Given the description of an element on the screen output the (x, y) to click on. 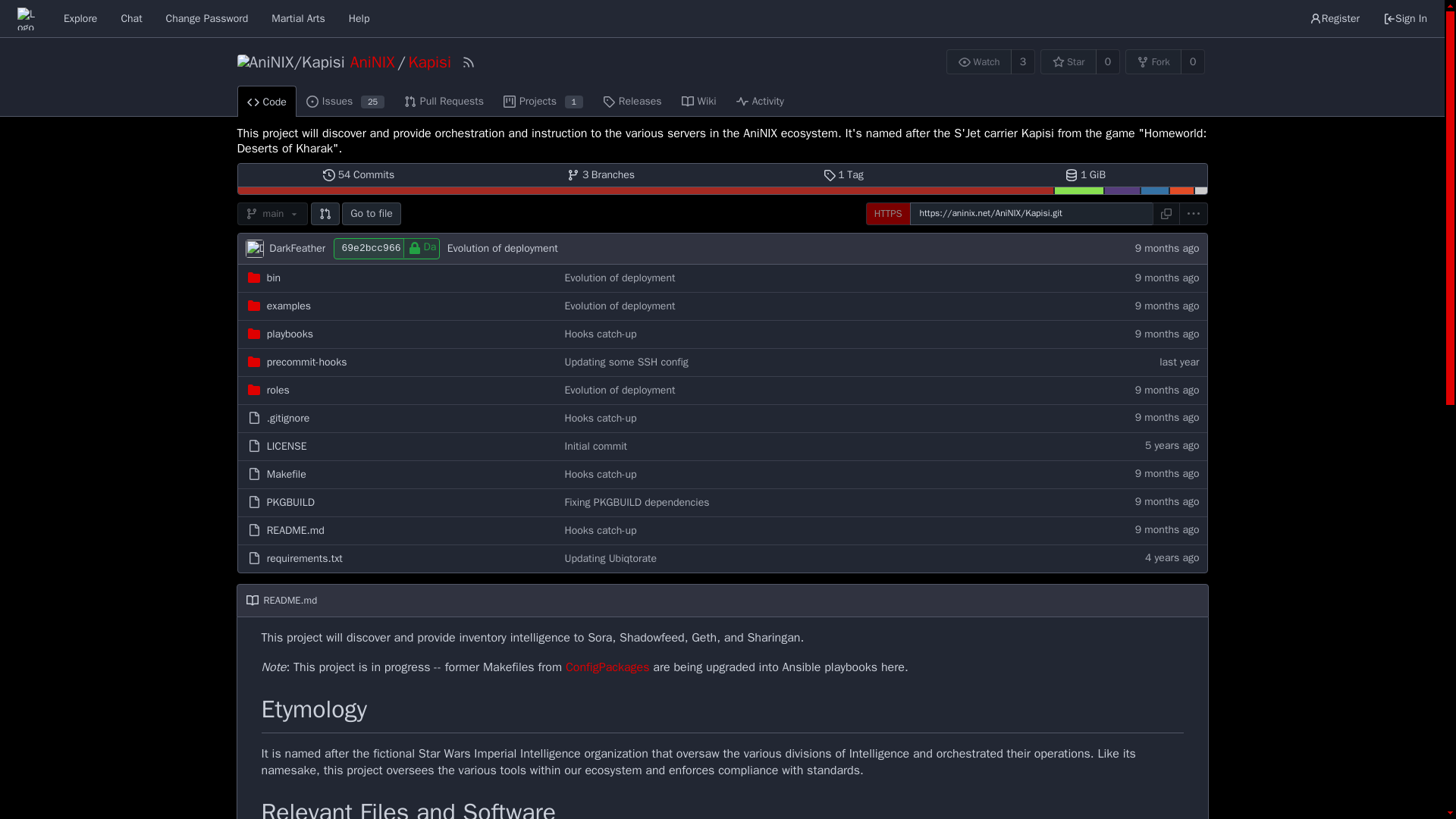
Releases (631, 101)
Go to file (371, 213)
Sign In (345, 101)
Code (1405, 17)
DarkFeather (601, 174)
roles (265, 101)
Watch (429, 247)
Chat (277, 389)
Wiki (978, 61)
DarkFeather (130, 17)
0 (698, 101)
Fork (254, 248)
AniNIX (1107, 61)
